Given the description of an element on the screen output the (x, y) to click on. 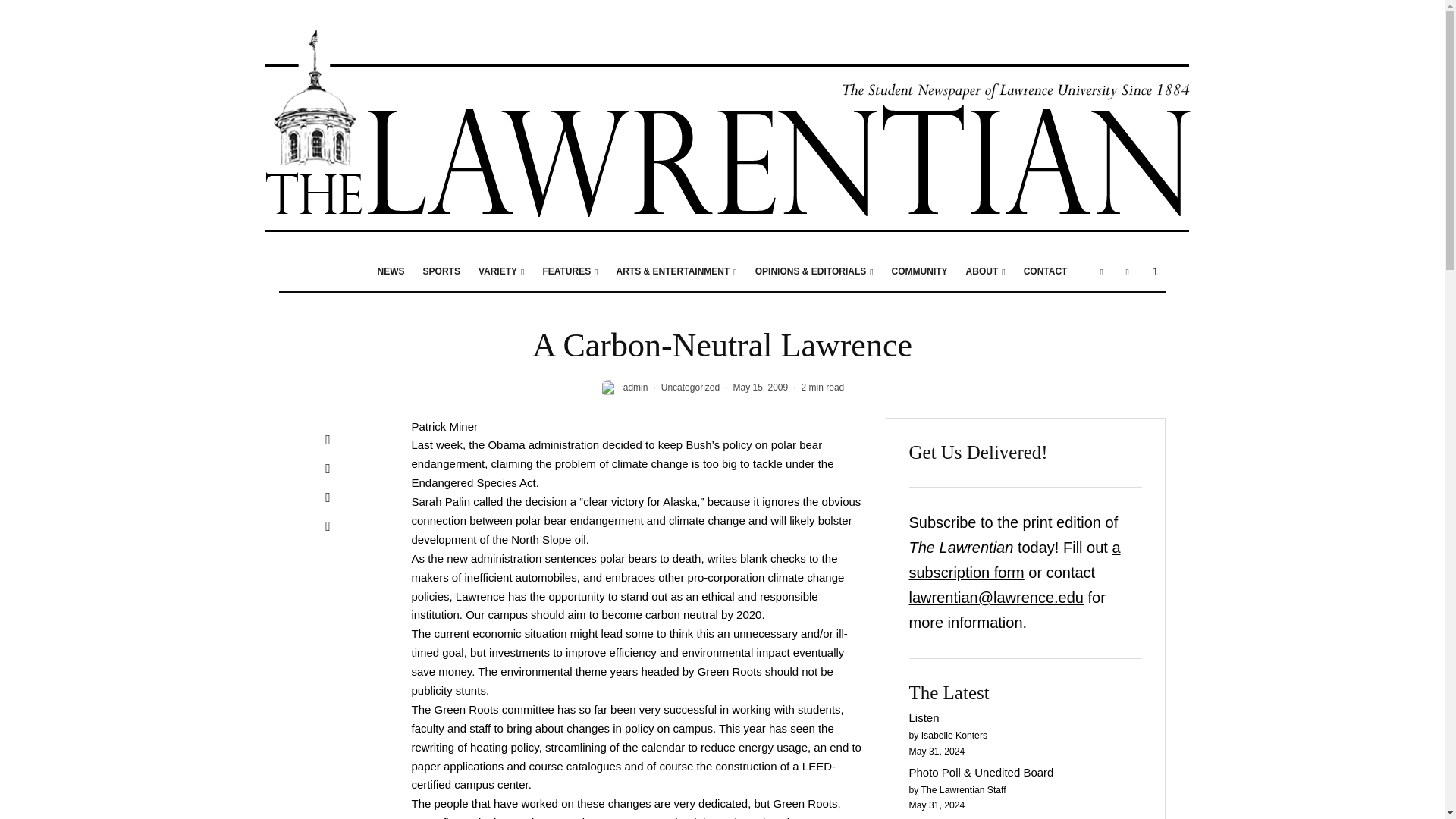
Posts by admin (635, 387)
NEWS (390, 272)
VARIETY (501, 272)
SPORTS (440, 272)
FEATURES (569, 272)
